Given the description of an element on the screen output the (x, y) to click on. 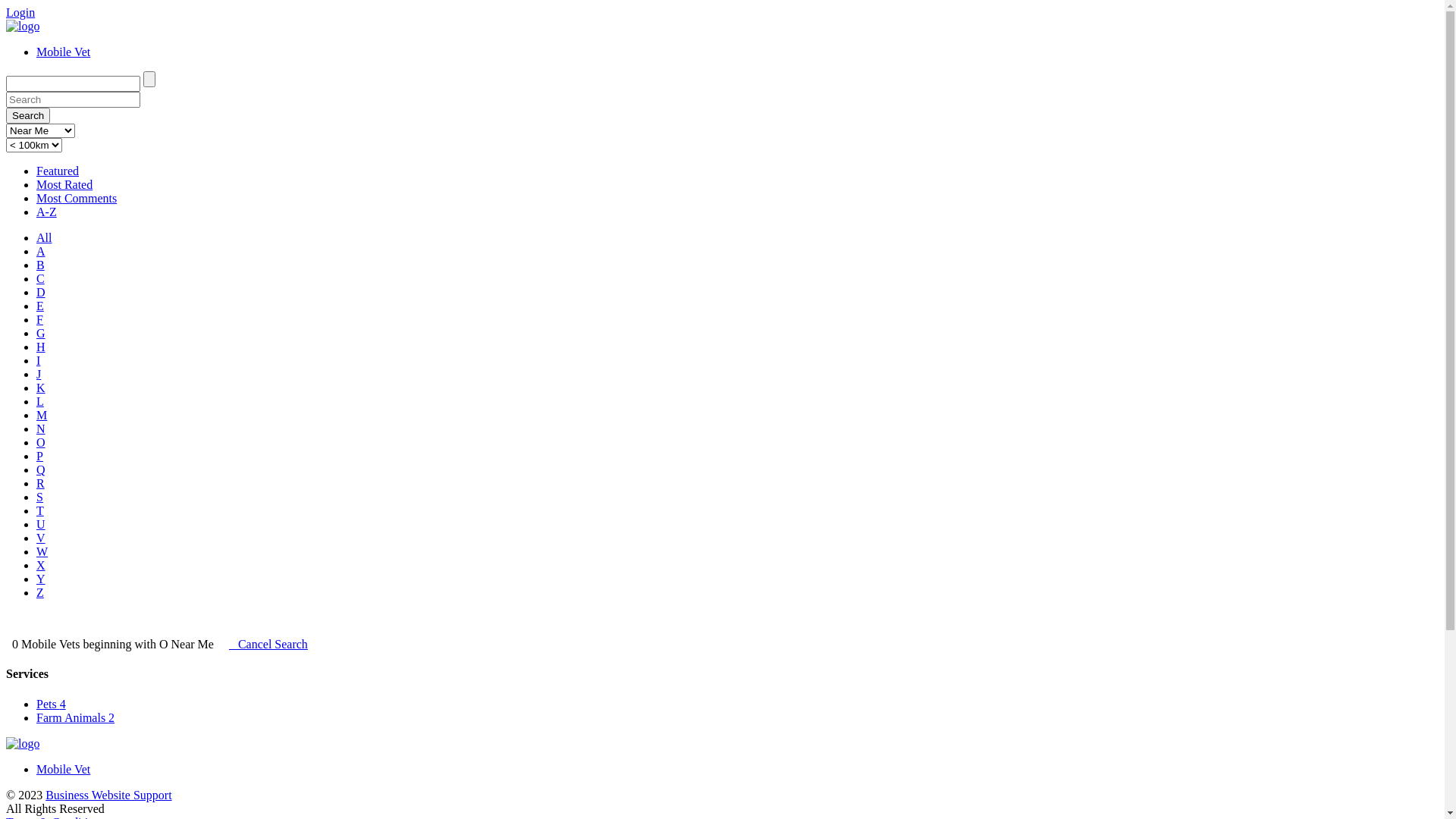
V Element type: text (40, 537)
A Element type: text (40, 250)
S Element type: text (39, 496)
G Element type: text (40, 332)
M Element type: text (41, 414)
P Element type: text (39, 455)
F Element type: text (39, 319)
Farm Animals 2 Element type: text (75, 717)
A-Z Element type: text (46, 211)
B Element type: text (40, 264)
U Element type: text (40, 523)
D Element type: text (40, 291)
   Cancel Search Element type: text (268, 643)
J Element type: text (38, 373)
C Element type: text (40, 278)
Q Element type: text (40, 469)
Business Website Support Element type: text (108, 794)
Login Element type: text (20, 12)
Featured Element type: text (57, 170)
Most Comments Element type: text (76, 197)
X Element type: text (40, 564)
Pets 4 Element type: text (50, 703)
O Element type: text (40, 442)
I Element type: text (38, 360)
L Element type: text (39, 401)
Most Rated Element type: text (64, 184)
Search Element type: text (28, 115)
T Element type: text (39, 510)
R Element type: text (40, 482)
All Element type: text (43, 237)
H Element type: text (40, 346)
N Element type: text (40, 428)
Mobile Vet Element type: text (63, 768)
Mobile Vet Element type: text (63, 51)
W Element type: text (41, 551)
K Element type: text (40, 387)
Y Element type: text (40, 578)
E Element type: text (39, 305)
Z Element type: text (39, 592)
